Given the description of an element on the screen output the (x, y) to click on. 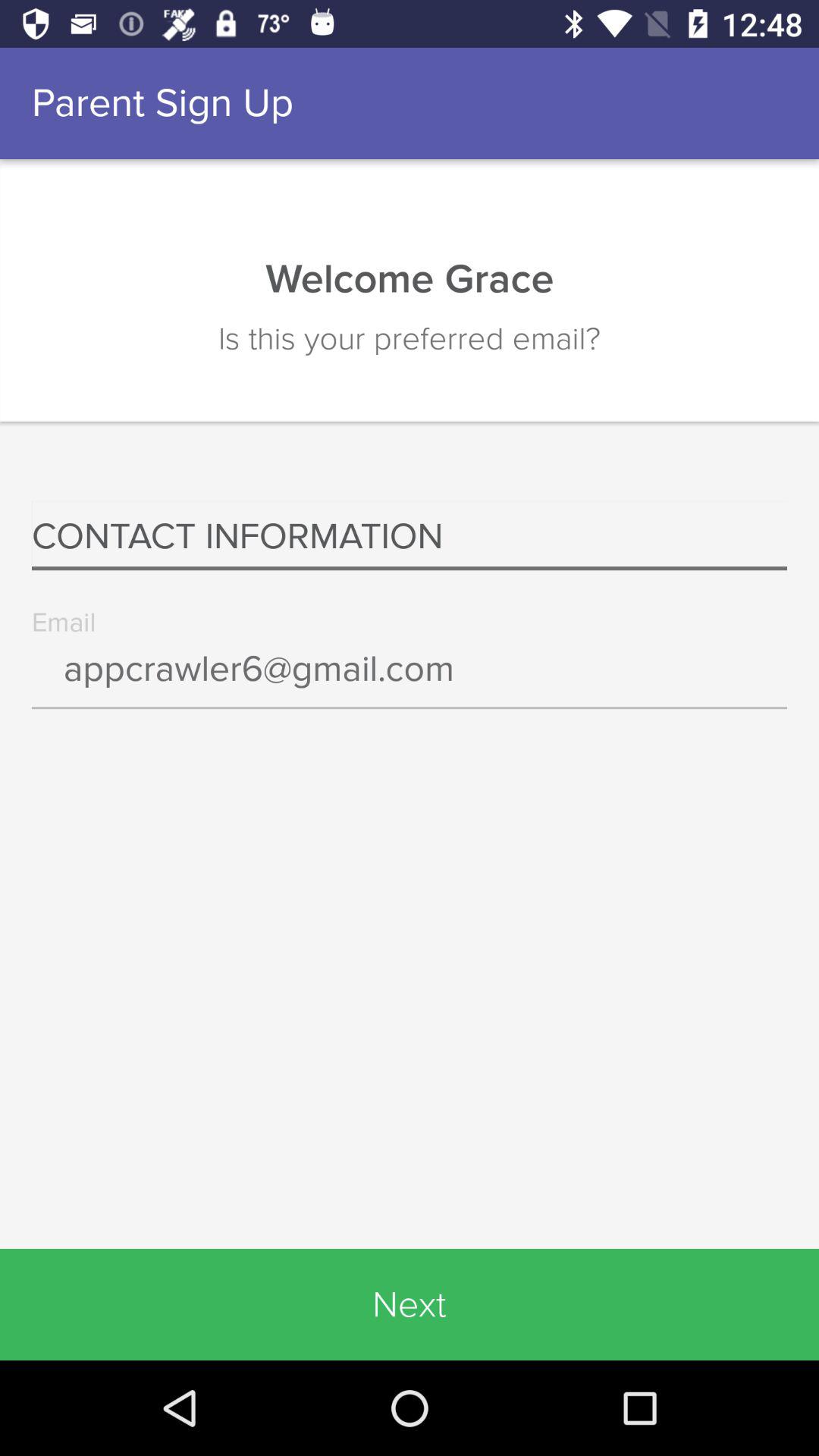
jump until appcrawler6@gmail.com item (409, 679)
